Given the description of an element on the screen output the (x, y) to click on. 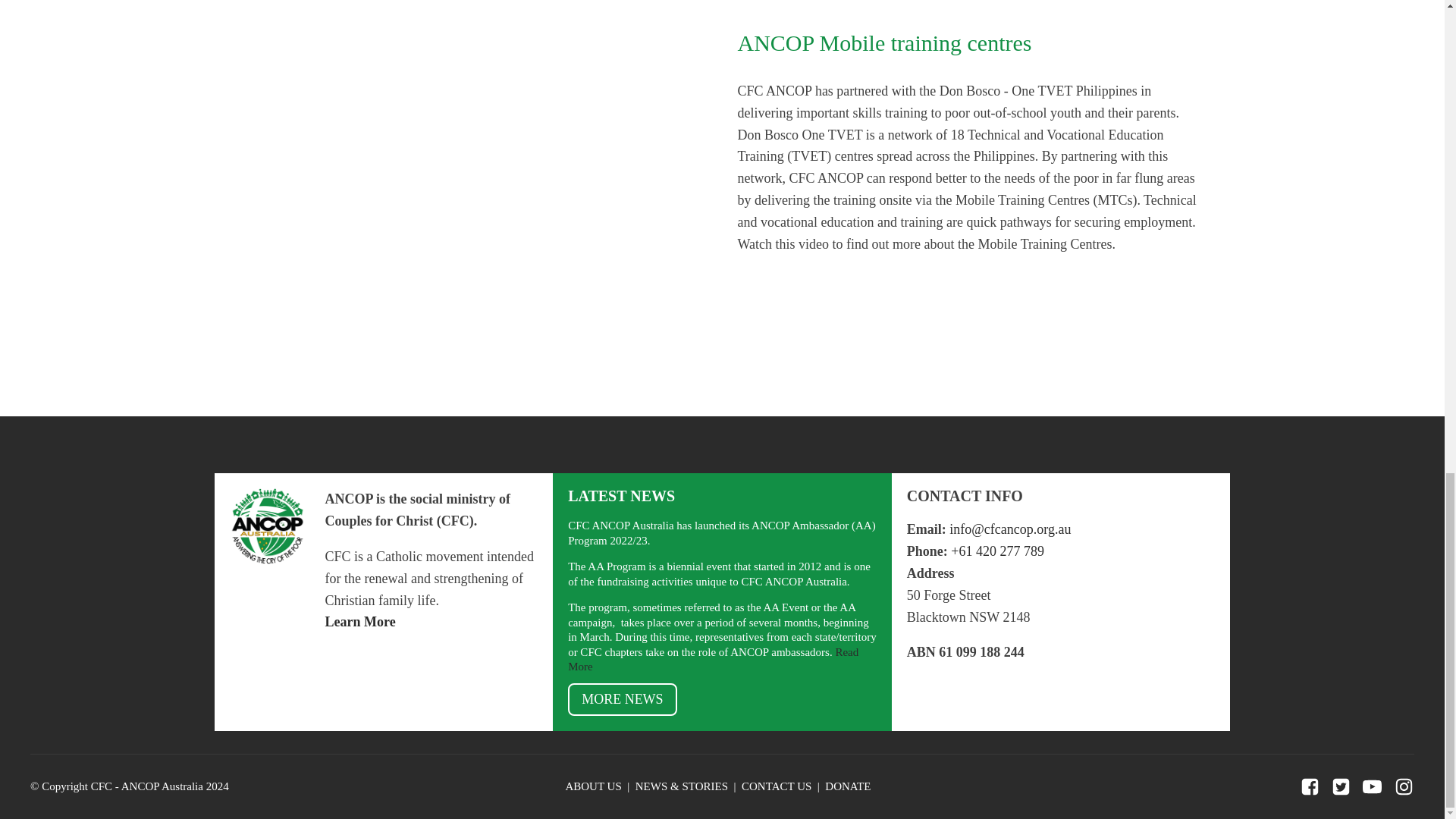
MORE NEWS (622, 699)
Read More (713, 659)
Learn More (360, 621)
